Given the description of an element on the screen output the (x, y) to click on. 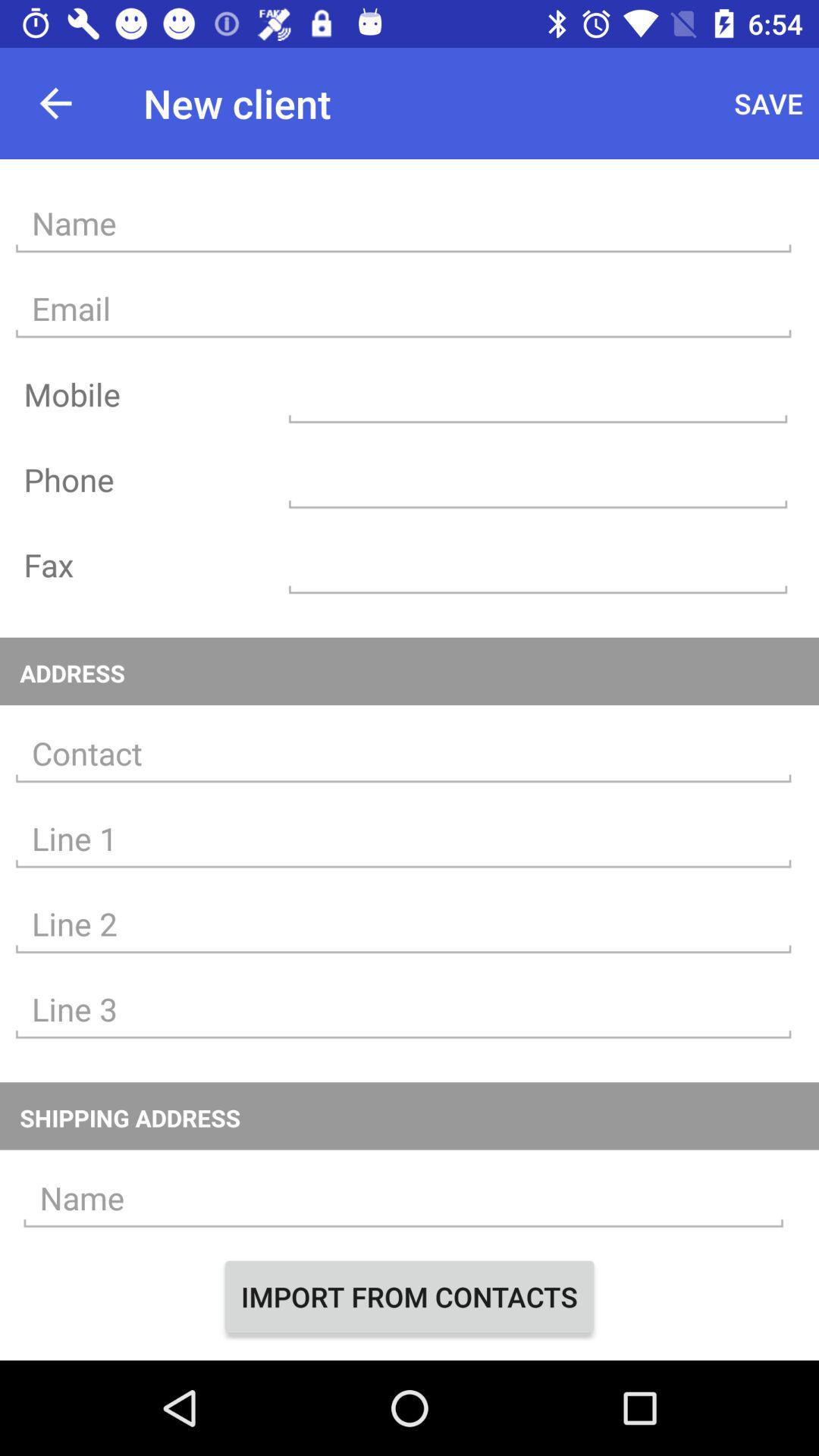
enter text (403, 1198)
